Given the description of an element on the screen output the (x, y) to click on. 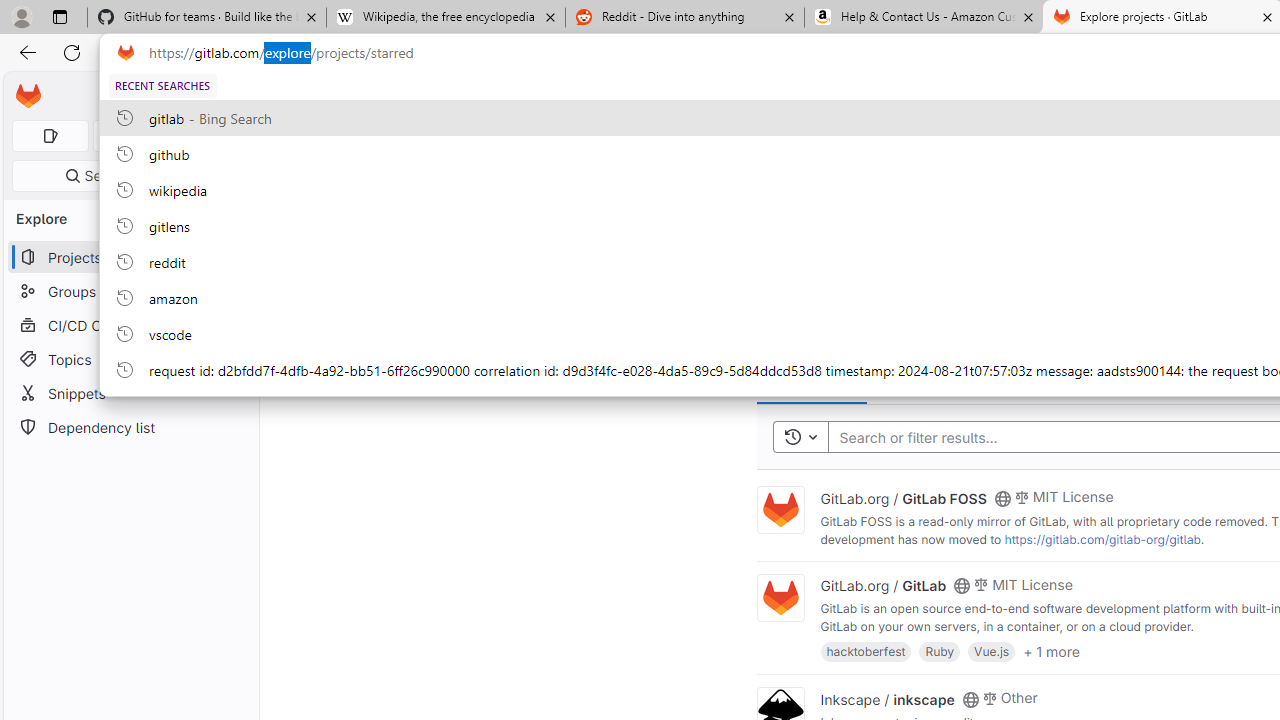
Groups (130, 291)
Class: project (780, 597)
Dependency list (130, 427)
Assigned issues 0 (50, 136)
https://gitlab.com/gitlab-org/gitlab (1101, 539)
